Given the description of an element on the screen output the (x, y) to click on. 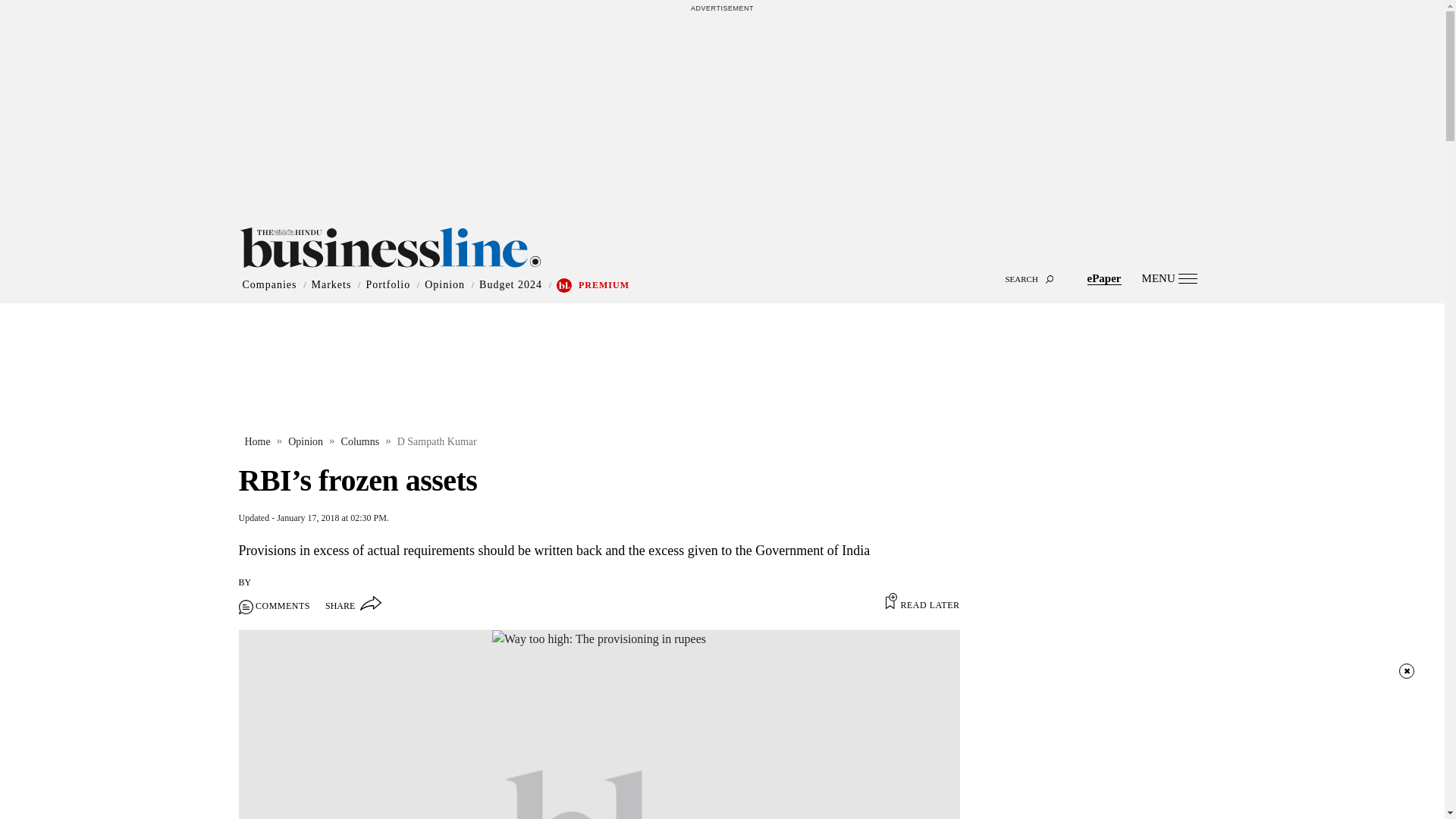
Portfolio (387, 284)
ePaper (1104, 278)
Opinion (444, 284)
Companies (270, 284)
SEARCH (721, 265)
MENU (1168, 277)
Budget 2024 (510, 284)
PREMIUM (603, 285)
Markets (330, 284)
